Given the description of an element on the screen output the (x, y) to click on. 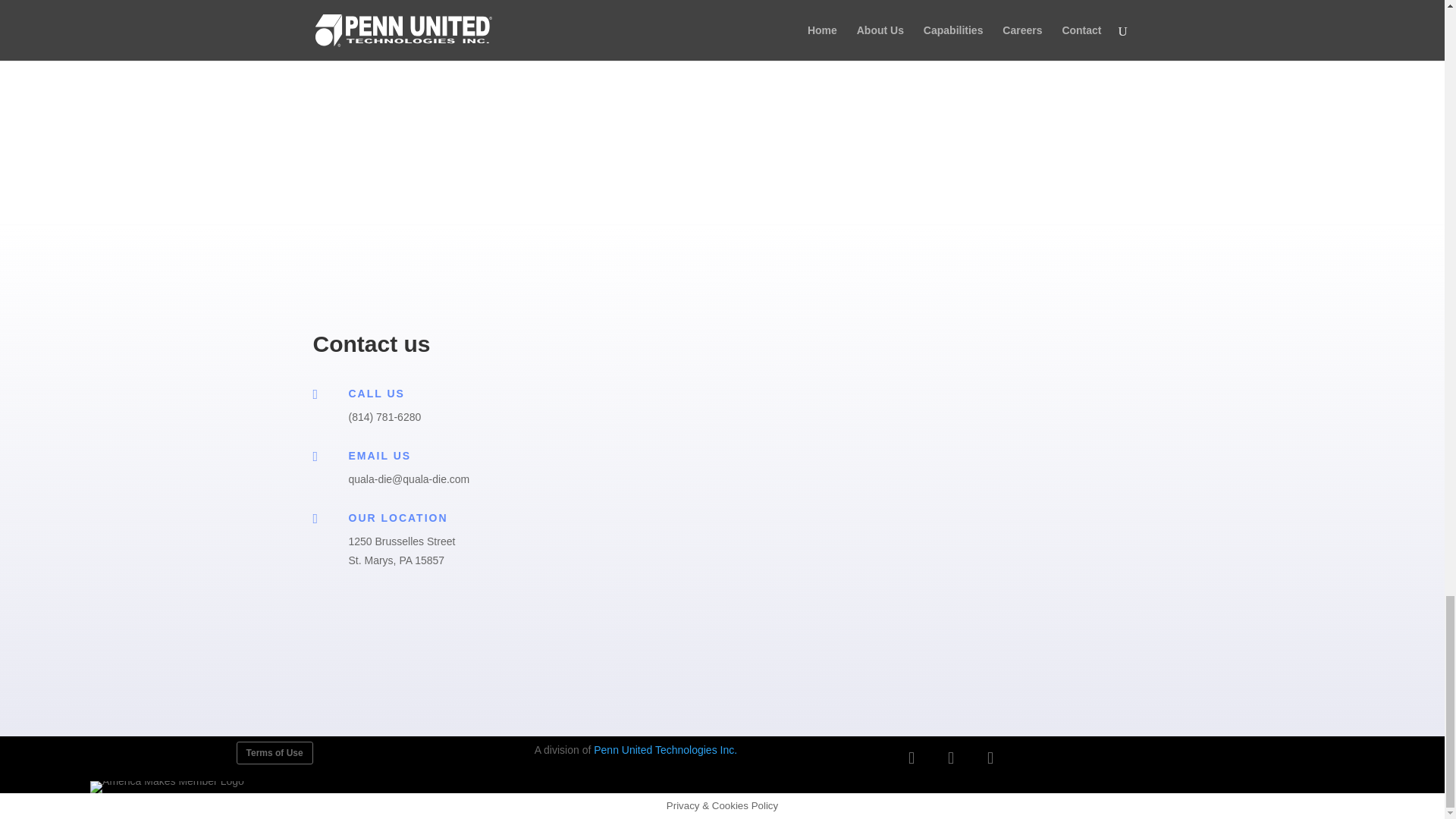
Penn United Technologies Inc. (665, 749)
Follow on LinkedIn (951, 758)
Follow on Youtube (990, 758)
wpforms-submit (595, 594)
Terms of Use (274, 753)
wpforms-submit (557, 11)
Follow on Facebook (911, 758)
